Given the description of an element on the screen output the (x, y) to click on. 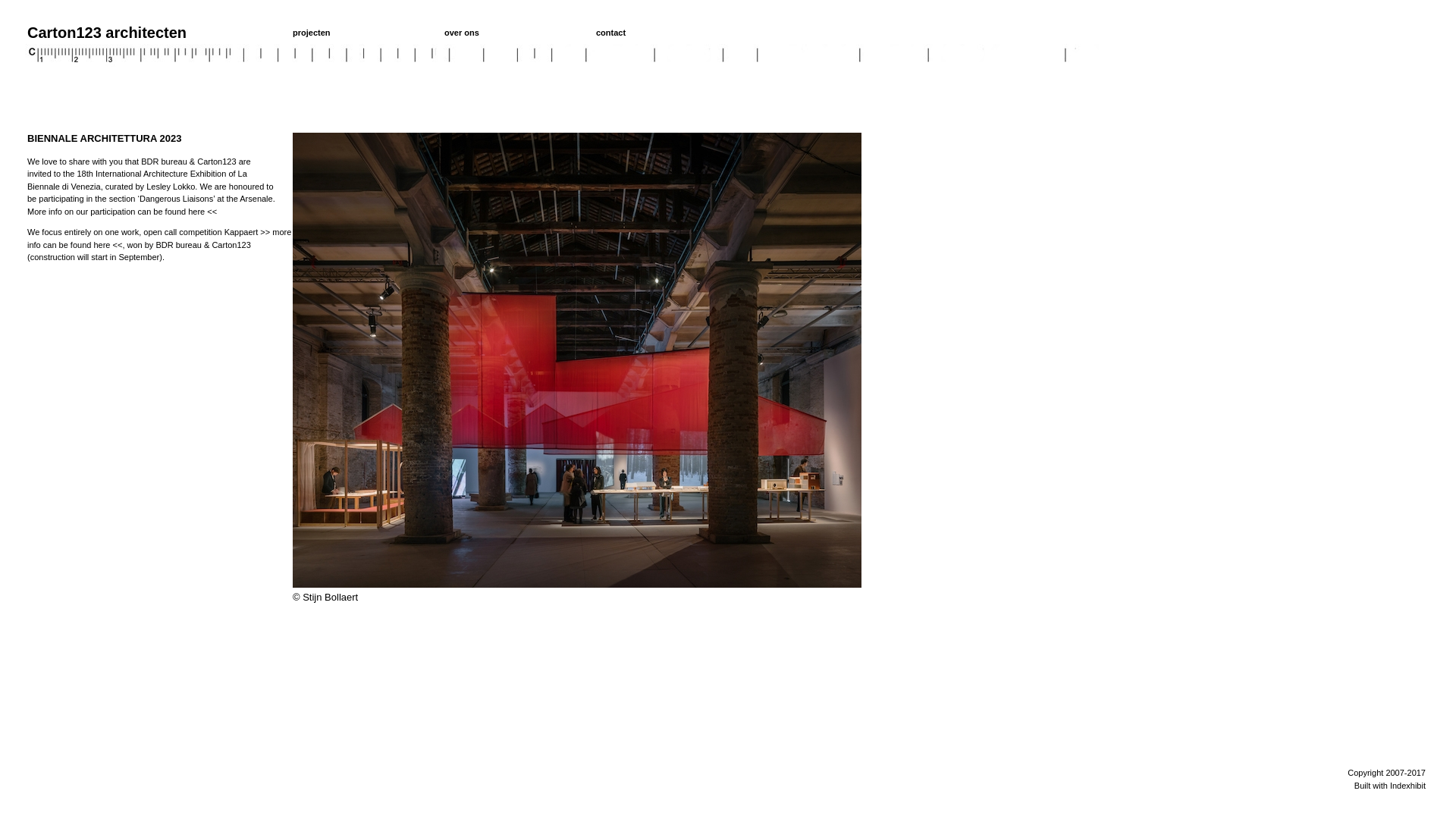
contact Element type: text (610, 32)
Built with Indexhibit Element type: text (1389, 785)
Carton123 architecten Element type: text (106, 32)
projecten Element type: text (311, 32)
over ons Element type: text (461, 32)
here Element type: text (101, 243)
BDR bureau Element type: text (164, 160)
here Element type: text (196, 210)
